Given the description of an element on the screen output the (x, y) to click on. 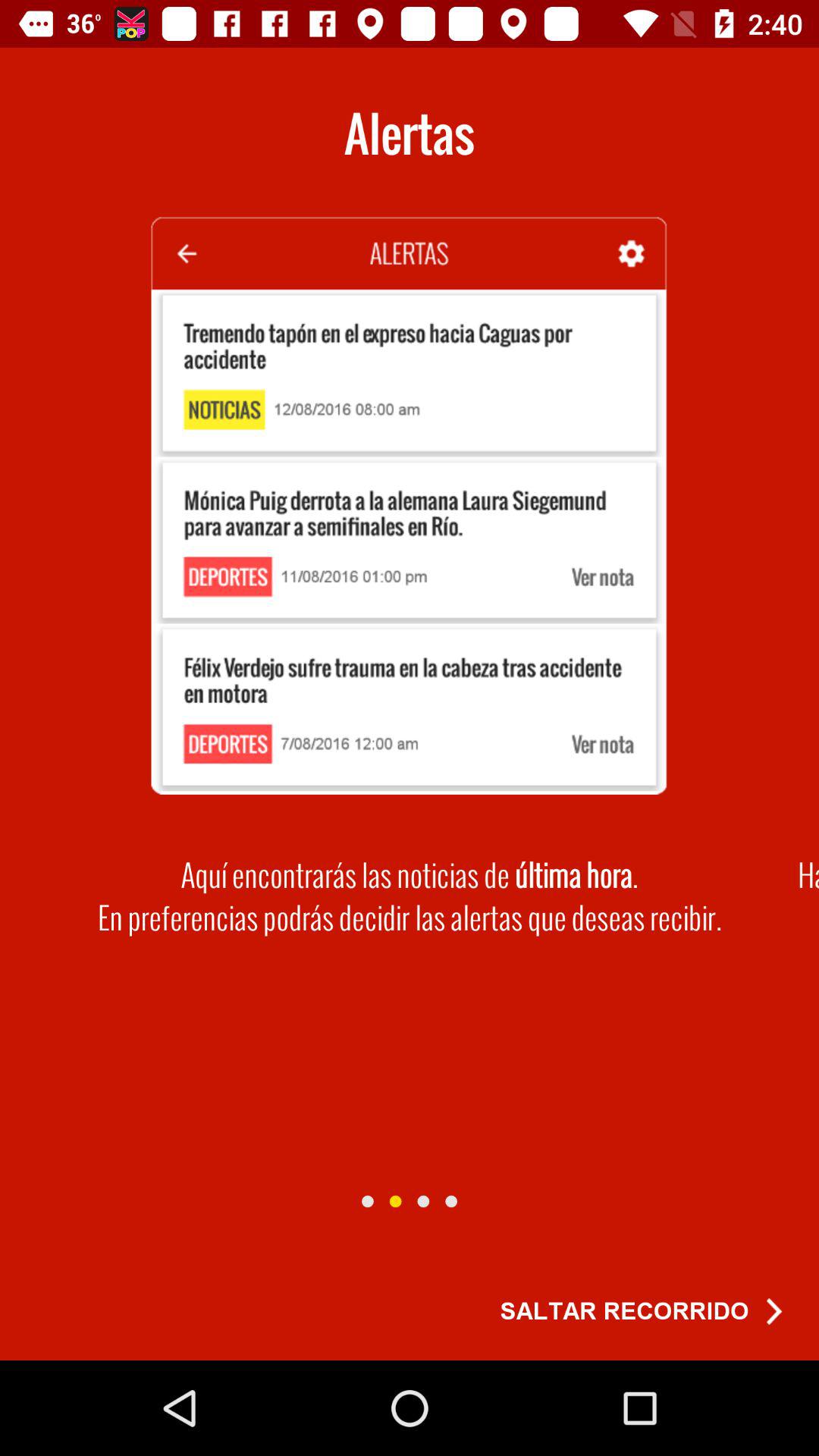
loading next image (367, 1201)
